Given the description of an element on the screen output the (x, y) to click on. 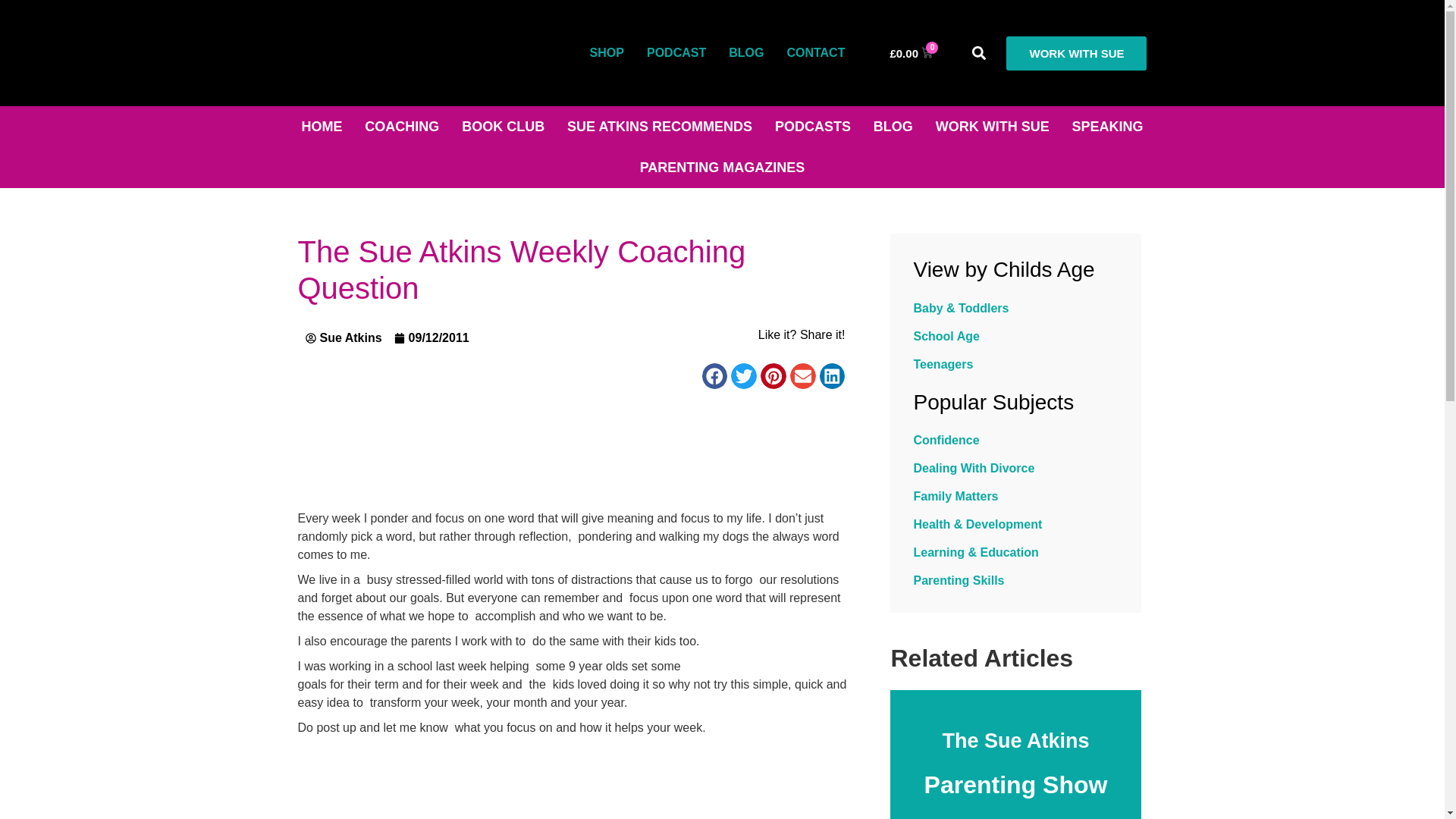
SHOP (606, 53)
PARENTING MAGAZINES (721, 167)
PODCAST (675, 53)
BLOG (745, 53)
BLOG (892, 126)
HOME (321, 126)
WORK WITH SUE (1076, 53)
COACHING (401, 126)
BOOK CLUB (502, 126)
SUE ATKINS RECOMMENDS (659, 126)
